Given the description of an element on the screen output the (x, y) to click on. 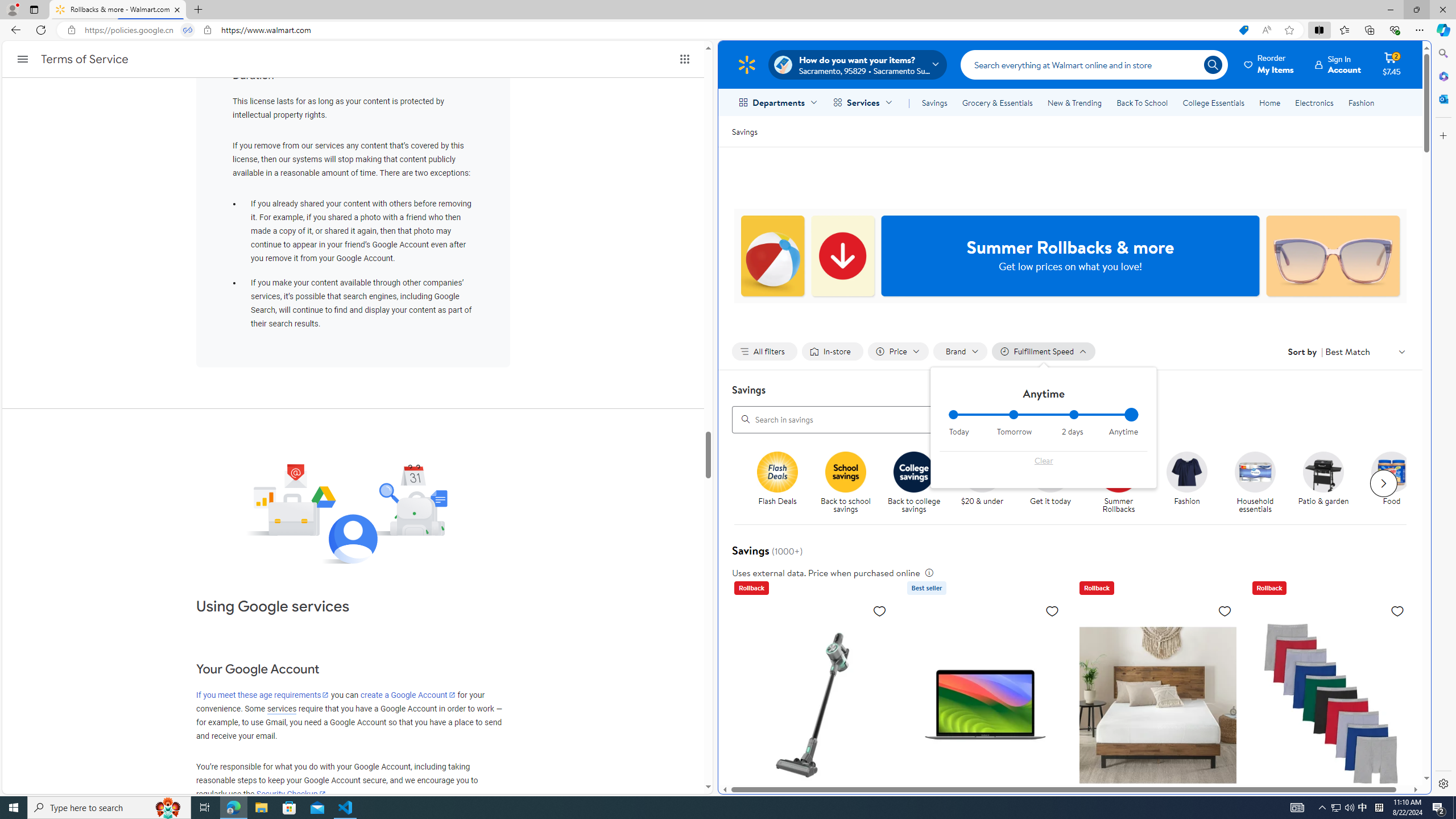
Fashion (1361, 102)
All filters none applied, activate to change (764, 351)
Household essentials Household essentials (1254, 483)
Electronics (1314, 102)
Hanes Men's Super Value Pack Assorted Boxer Briefs, 10 Pack (1330, 704)
College Essentials (1213, 102)
Back to School savings (845, 471)
Household essentials (1254, 471)
